Given the description of an element on the screen output the (x, y) to click on. 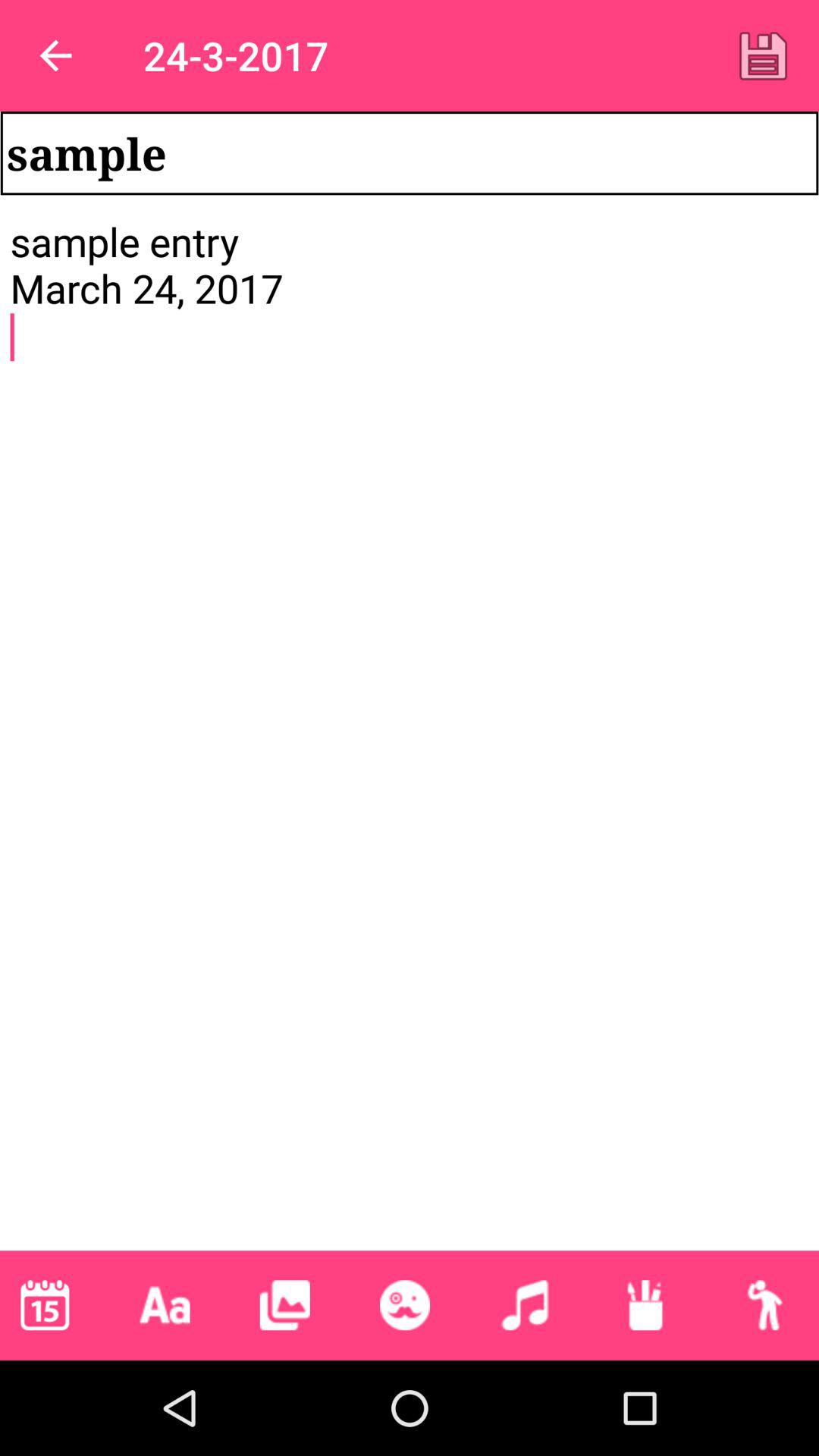
save entry (763, 55)
